Given the description of an element on the screen output the (x, y) to click on. 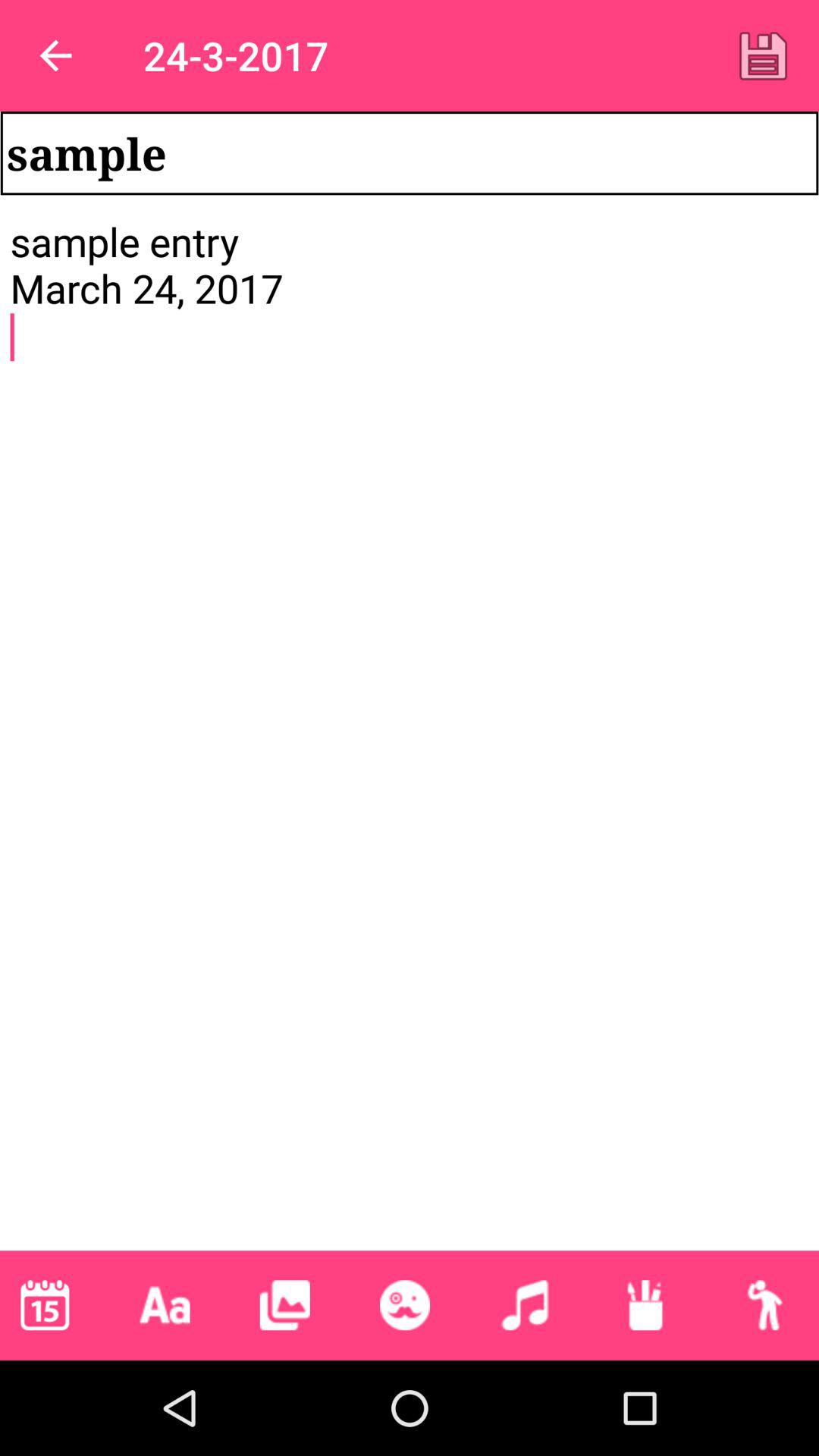
save entry (763, 55)
